Given the description of an element on the screen output the (x, y) to click on. 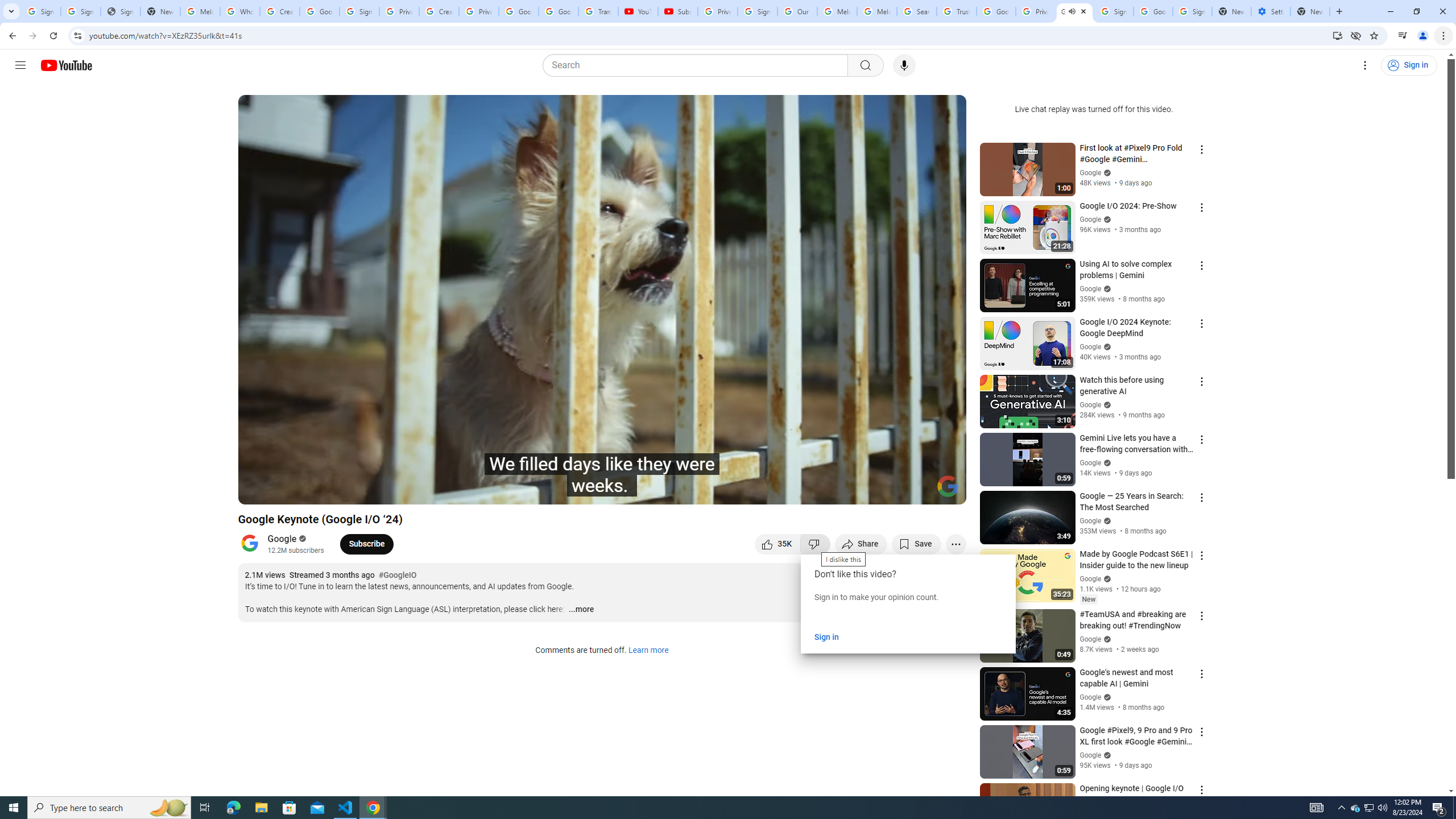
Settings - Addresses and more (1270, 11)
More actions (955, 543)
Next (SHIFT+n) (284, 490)
Channel watermark (947, 486)
Sign in - Google Accounts (359, 11)
Google Account (557, 11)
Create your Google Account (438, 11)
